Given the description of an element on the screen output the (x, y) to click on. 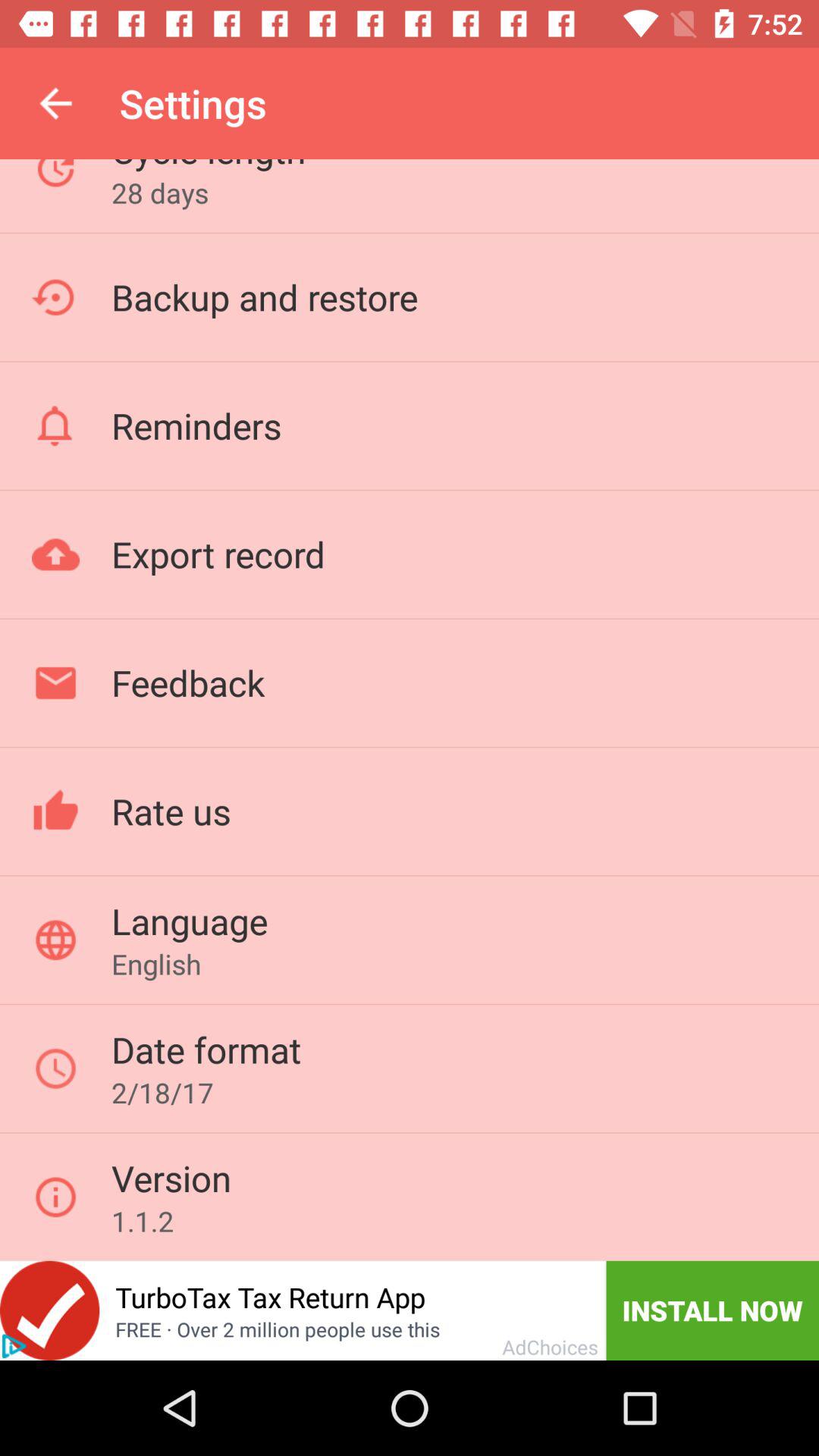
flip to backup and restore item (264, 297)
